Given the description of an element on the screen output the (x, y) to click on. 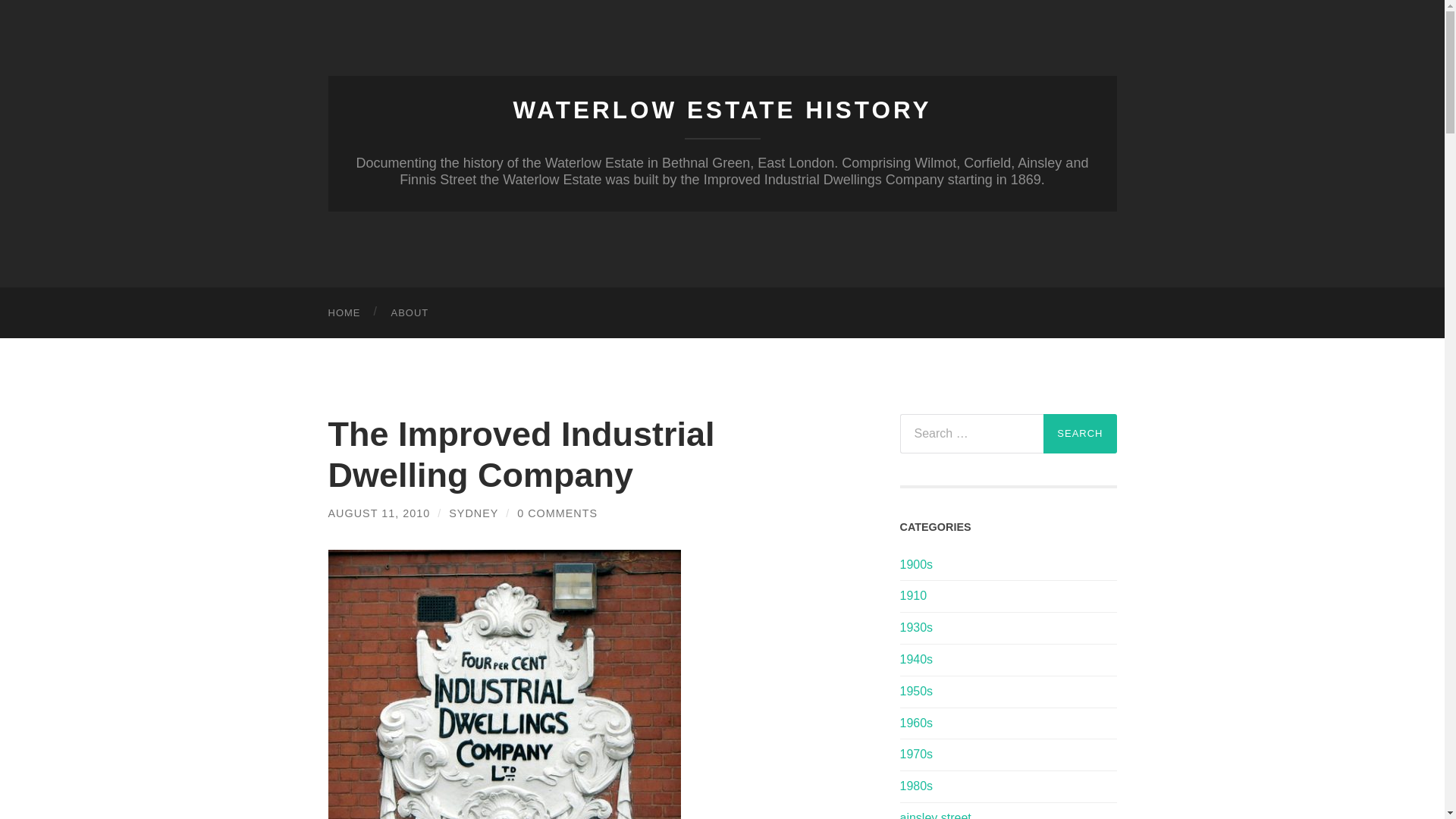
0 COMMENTS (556, 512)
1970s (916, 753)
Posts by Sydney (472, 512)
Search (1079, 433)
ABOUT (409, 311)
1980s (916, 785)
Search (1079, 433)
AUGUST 11, 2010 (378, 512)
ainsley street (935, 815)
1950s (916, 690)
1960s (916, 722)
1910 (912, 594)
SYDNEY (472, 512)
1930s (916, 626)
1940s (916, 658)
